Given the description of an element on the screen output the (x, y) to click on. 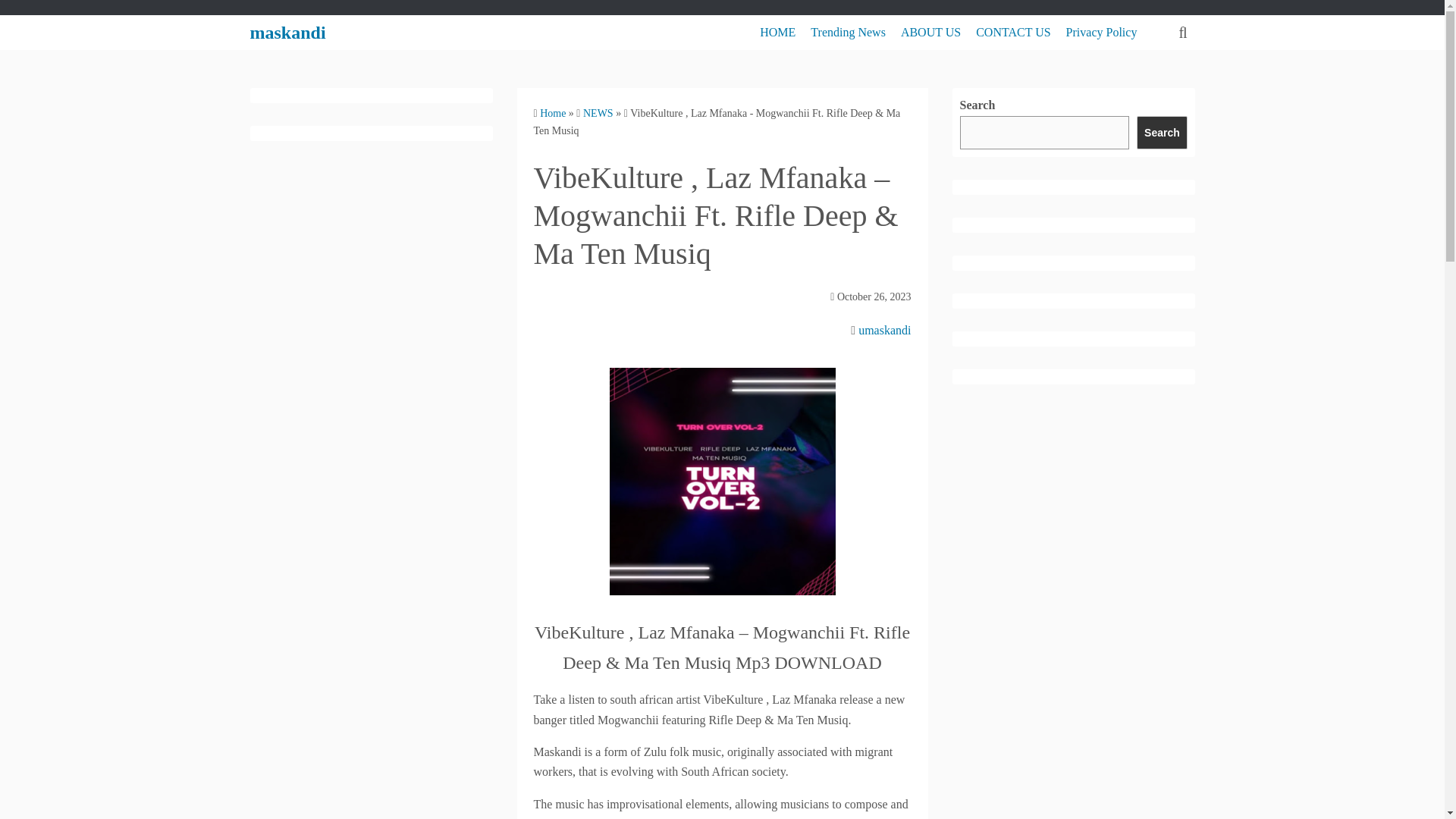
ABOUT US (930, 32)
Search (1161, 132)
HOME (777, 32)
CONTACT US (1012, 32)
umaskandi (885, 329)
Trending News (847, 32)
Home (553, 112)
Privacy Policy (1101, 32)
NEWS (597, 112)
maskandi (288, 32)
